Given the description of an element on the screen output the (x, y) to click on. 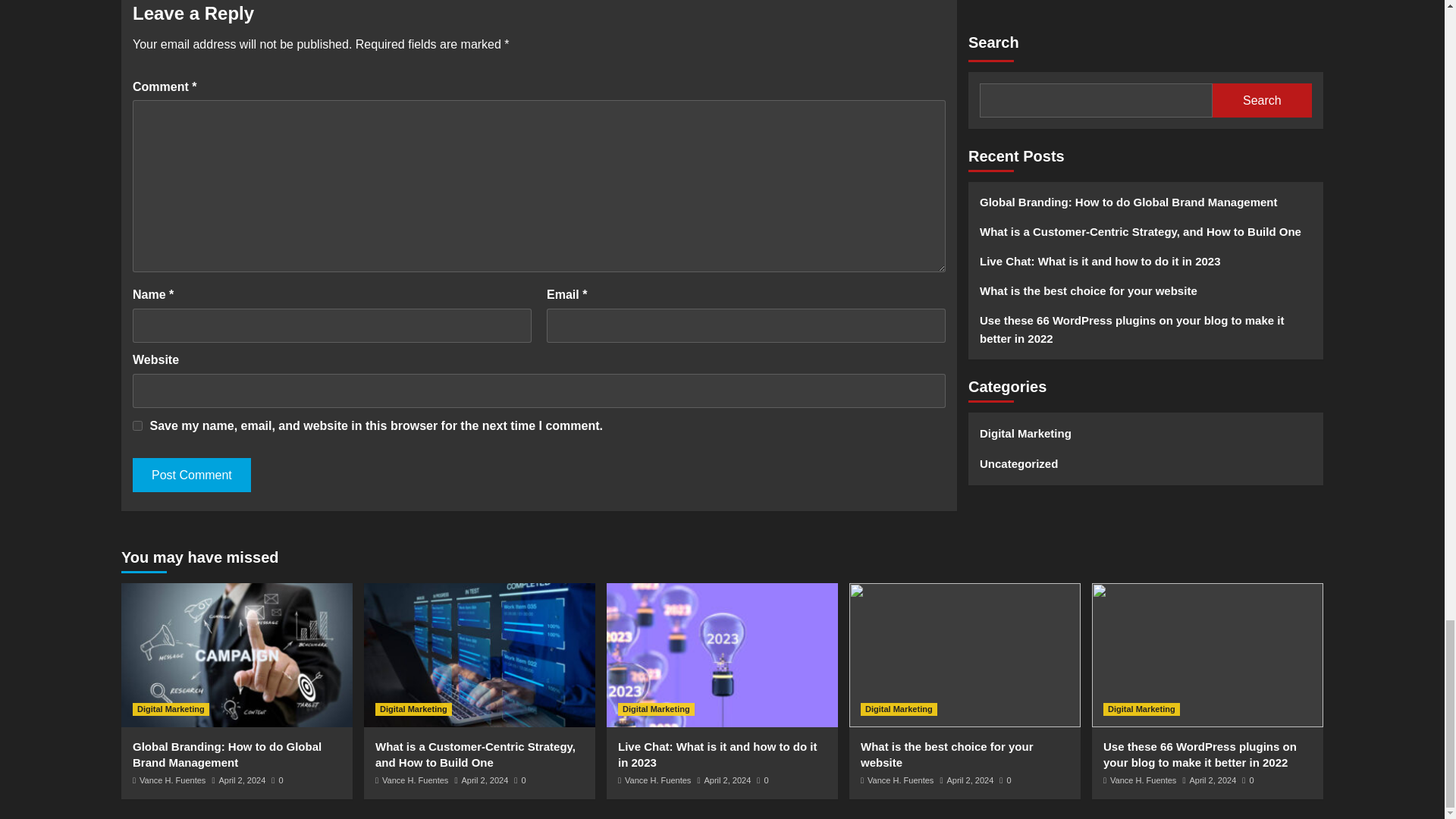
Post Comment (191, 474)
Post Comment (191, 474)
yes (137, 425)
